Given the description of an element on the screen output the (x, y) to click on. 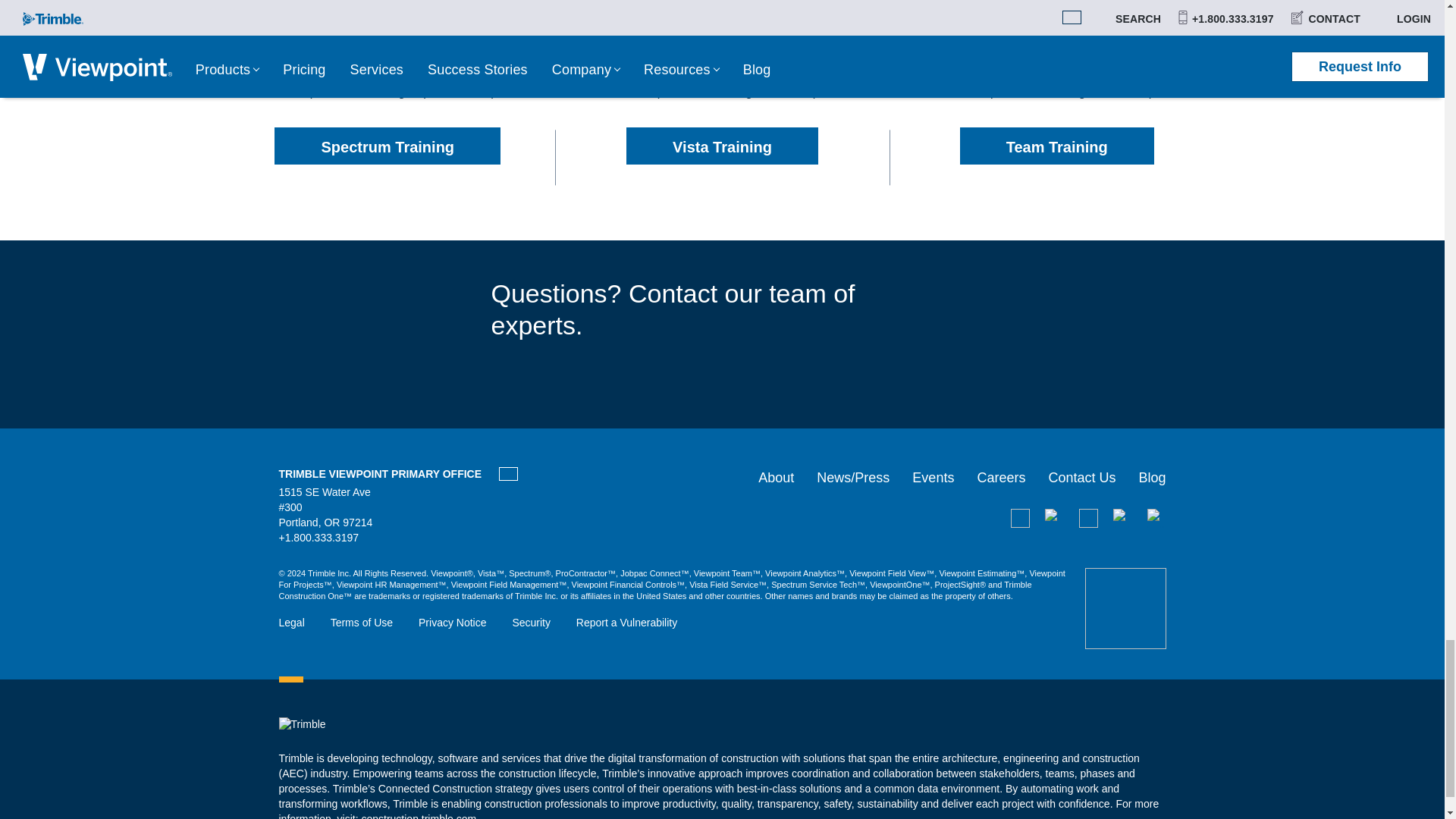
Follow Viewpoint on Twitter (1156, 517)
Connect with Viewpoint on LinkedIn (1087, 517)
Viewpoint Culture on Instagram (1122, 517)
Follow Viewpoint on Facebook (1054, 517)
